Given the description of an element on the screen output the (x, y) to click on. 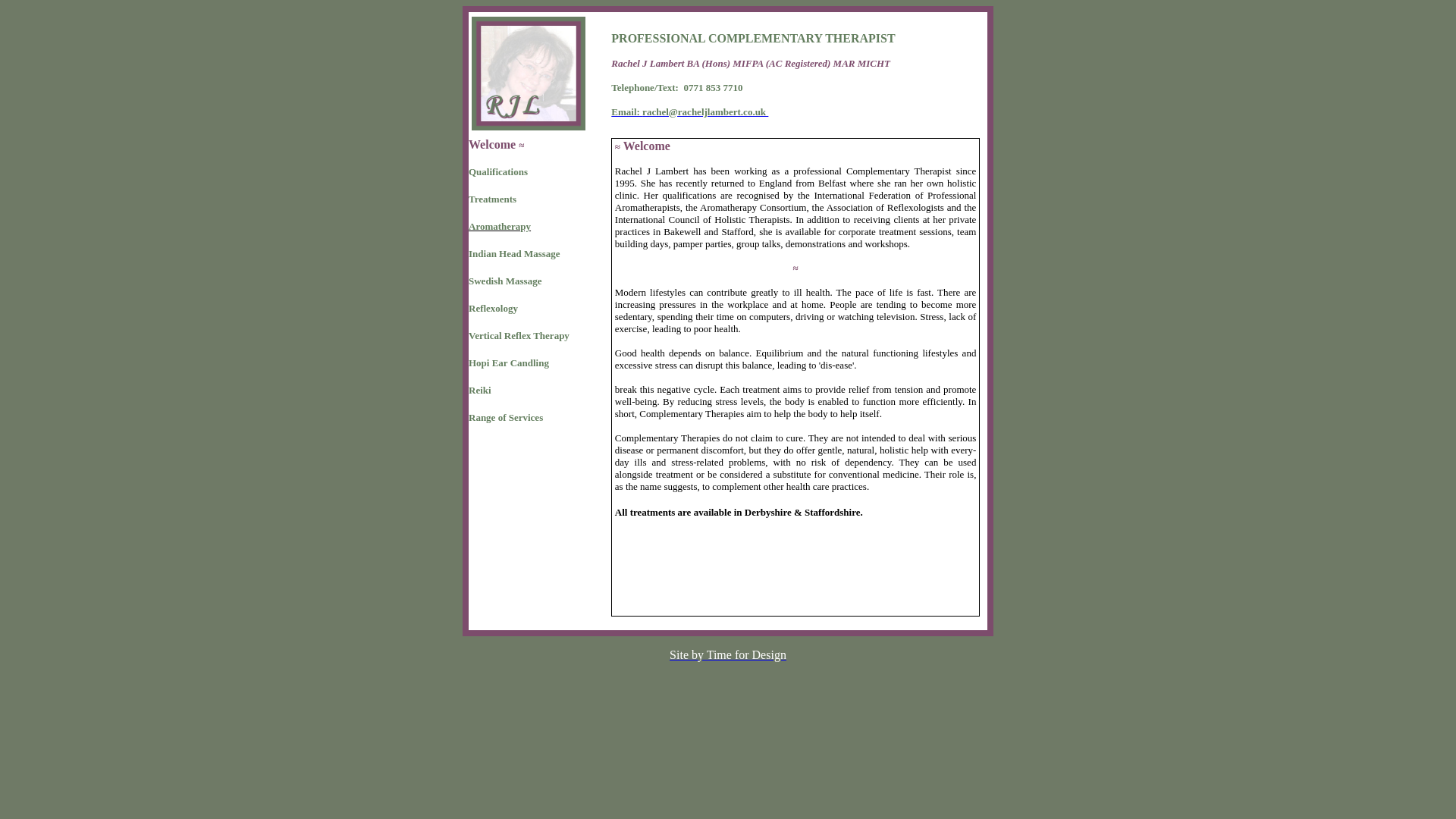
Site by Time for Design (727, 653)
Welcome (491, 144)
Aromatherapy (499, 225)
Reiki (480, 389)
Reflexology (493, 307)
Qualifications (497, 171)
Email: (626, 111)
Vertical Reflex Therapy (518, 335)
Hopi Ear Candling (508, 362)
Indian Head Massage (514, 253)
Treatments (492, 198)
s (540, 417)
Range of Service (503, 416)
Swedish Massage (504, 280)
